Given the description of an element on the screen output the (x, y) to click on. 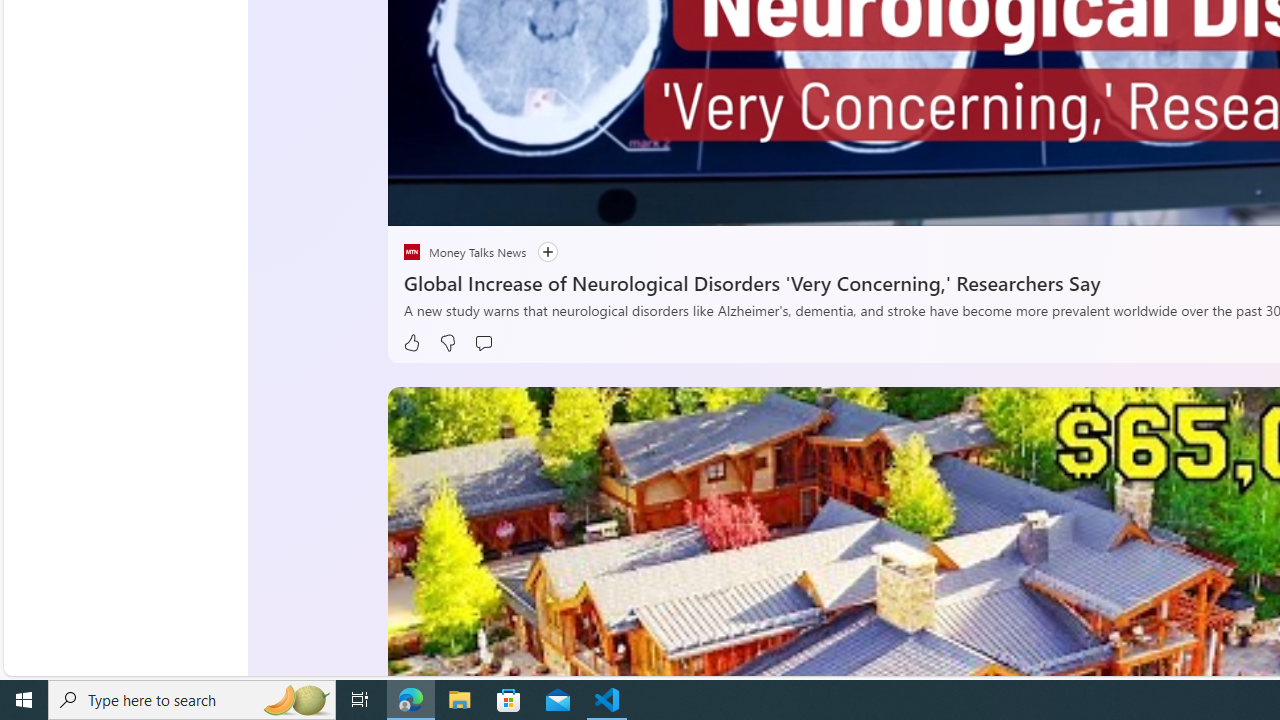
Like (412, 343)
Follow (538, 251)
Seek Back (457, 203)
placeholder (411, 252)
Seek Forward (497, 203)
Pause (417, 203)
